Given the description of an element on the screen output the (x, y) to click on. 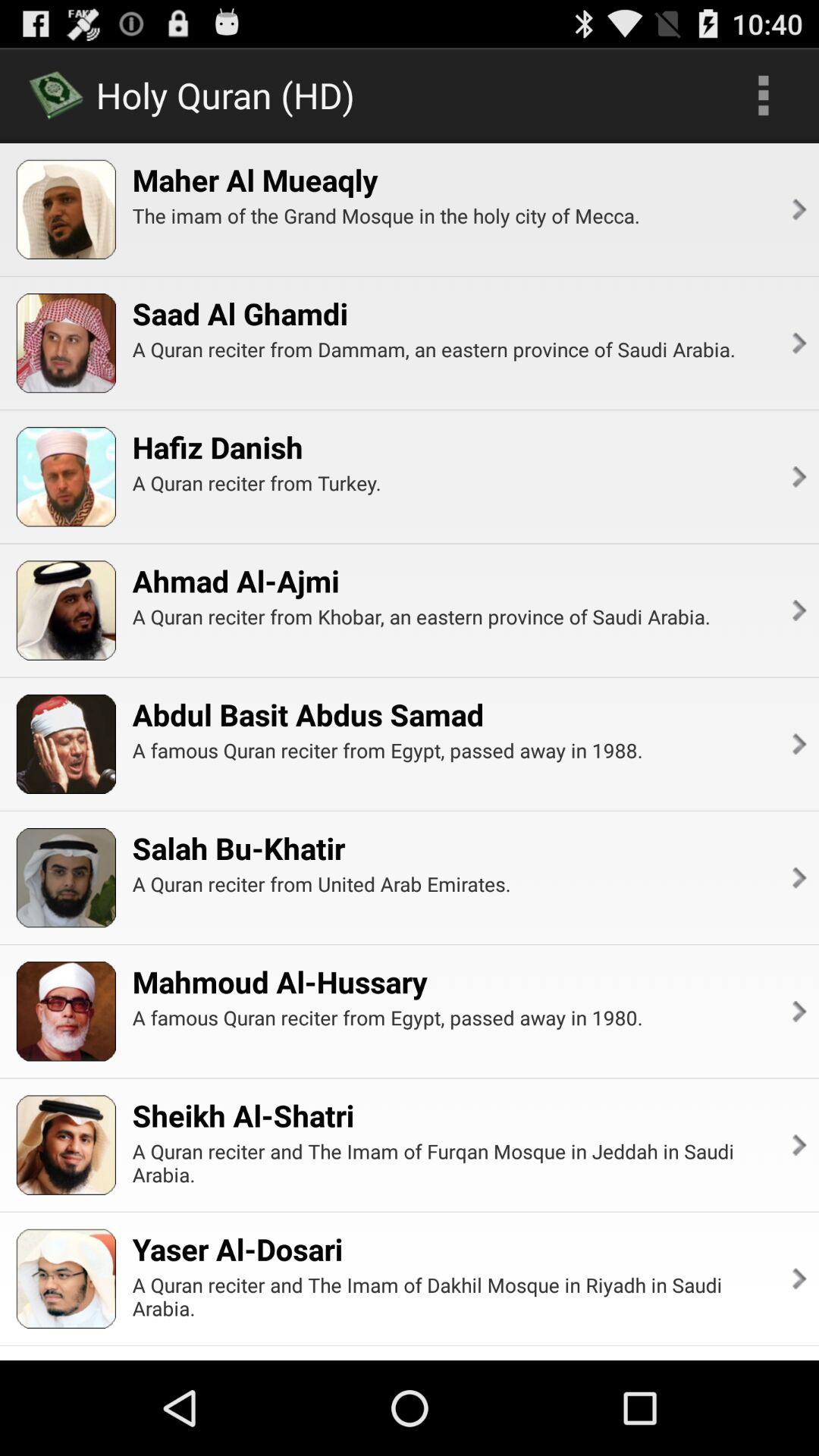
flip to the abdul basit abdus icon (308, 714)
